Given the description of an element on the screen output the (x, y) to click on. 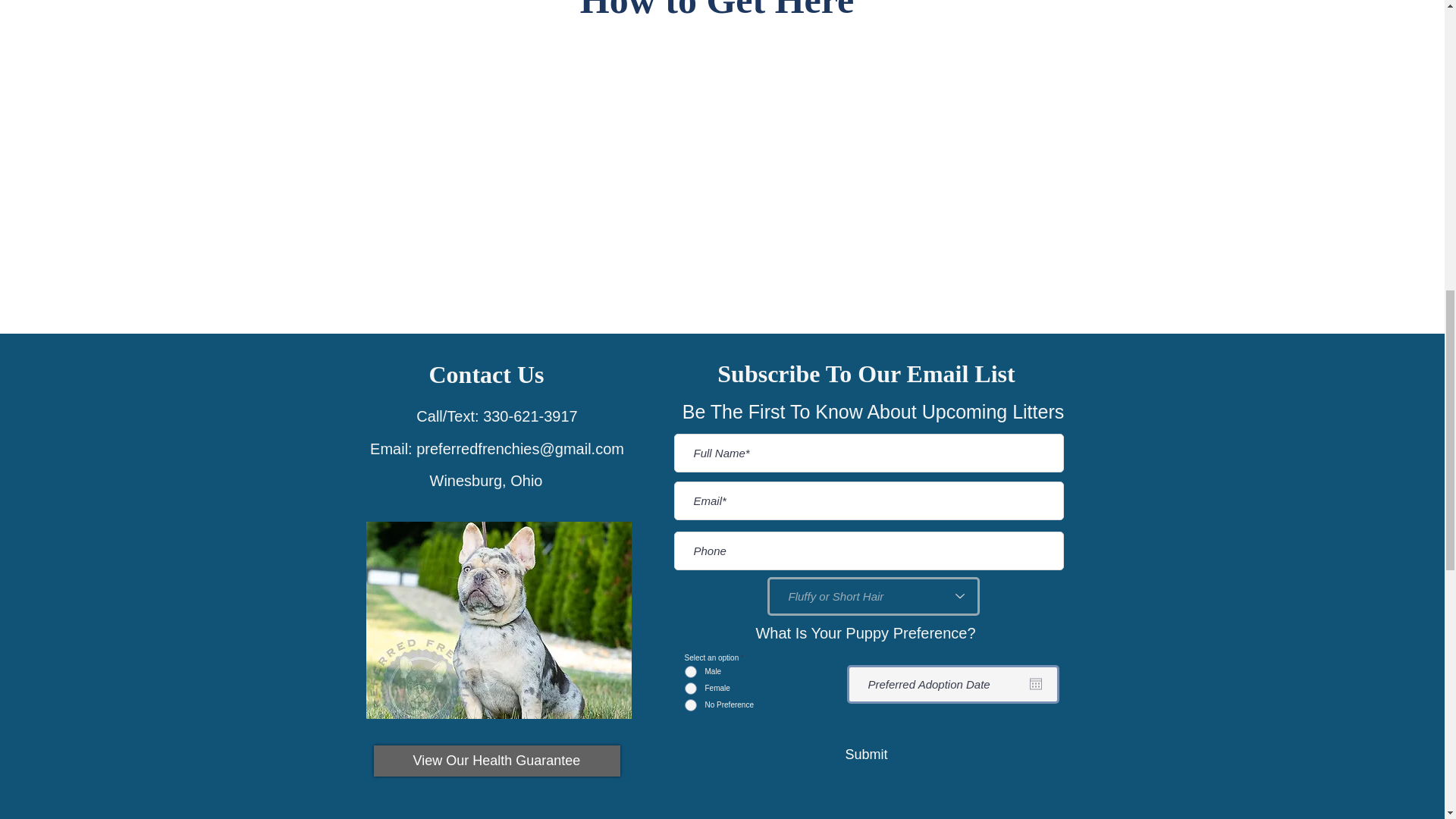
Submit (865, 754)
330-621-3917 (530, 416)
View Our Health Guarantee (496, 760)
